Given the description of an element on the screen output the (x, y) to click on. 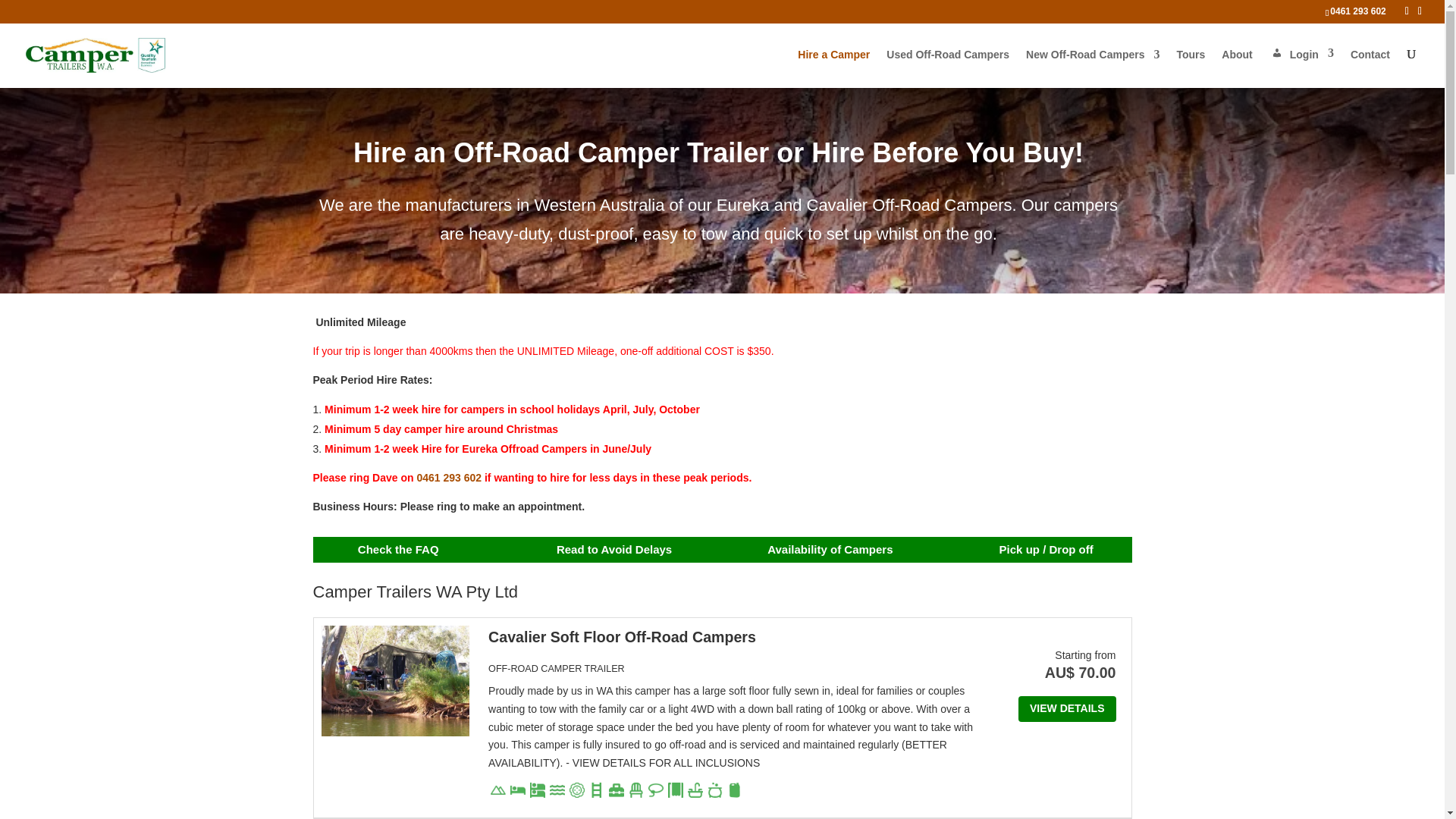
Login (1301, 67)
Hire a Camper (833, 67)
Used Off-Road Campers (947, 67)
VIEW DETAILS (1066, 708)
Used Off-Road Campers (947, 67)
Hire a Camper (833, 67)
Cavalier Soft Floor Off-Road Campers (621, 636)
Read to Avoid Delays (613, 550)
Contact (1370, 67)
New Camper Trailers for Sale (1092, 67)
